Given the description of an element on the screen output the (x, y) to click on. 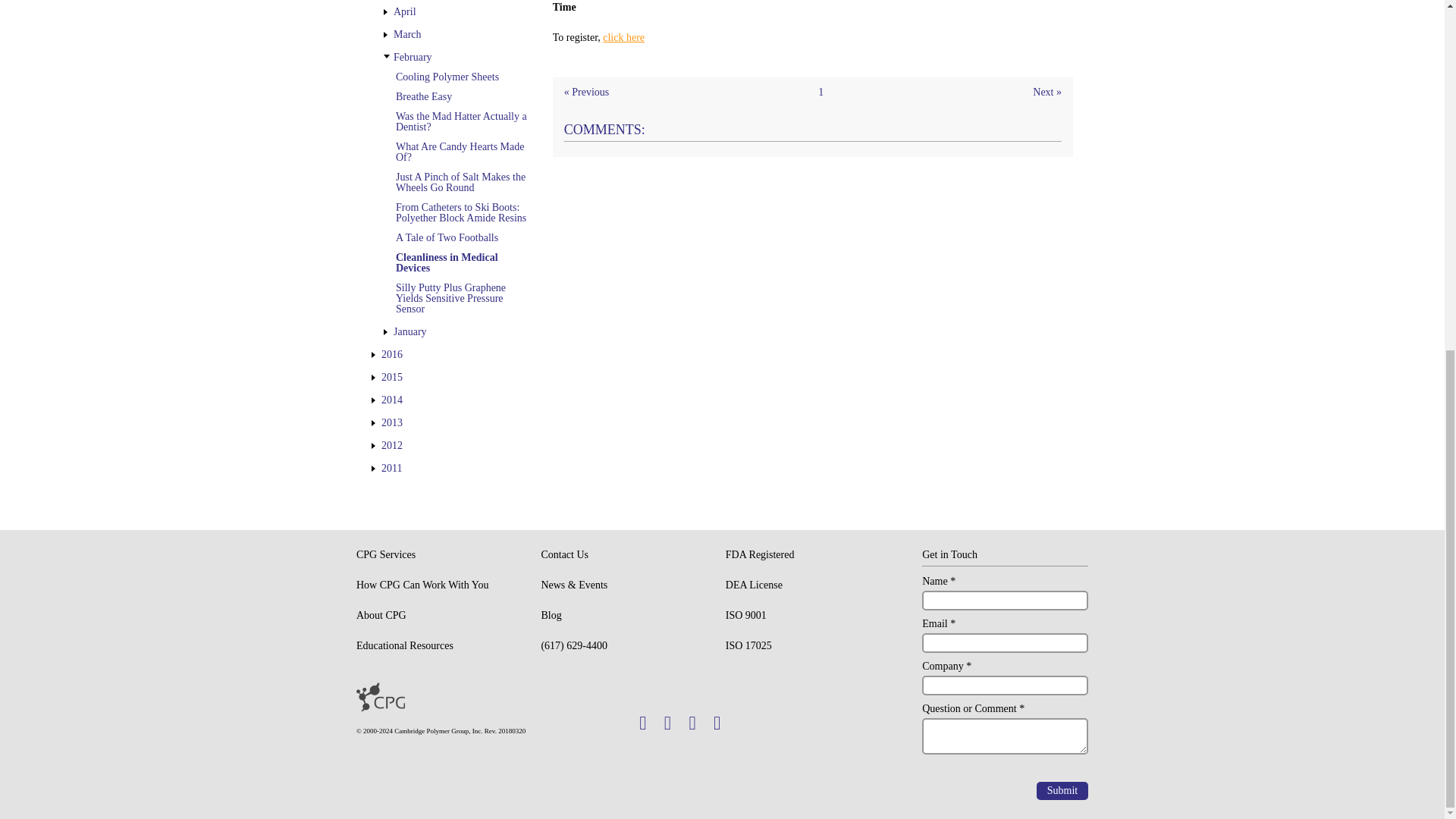
Submit (1061, 791)
